Given the description of an element on the screen output the (x, y) to click on. 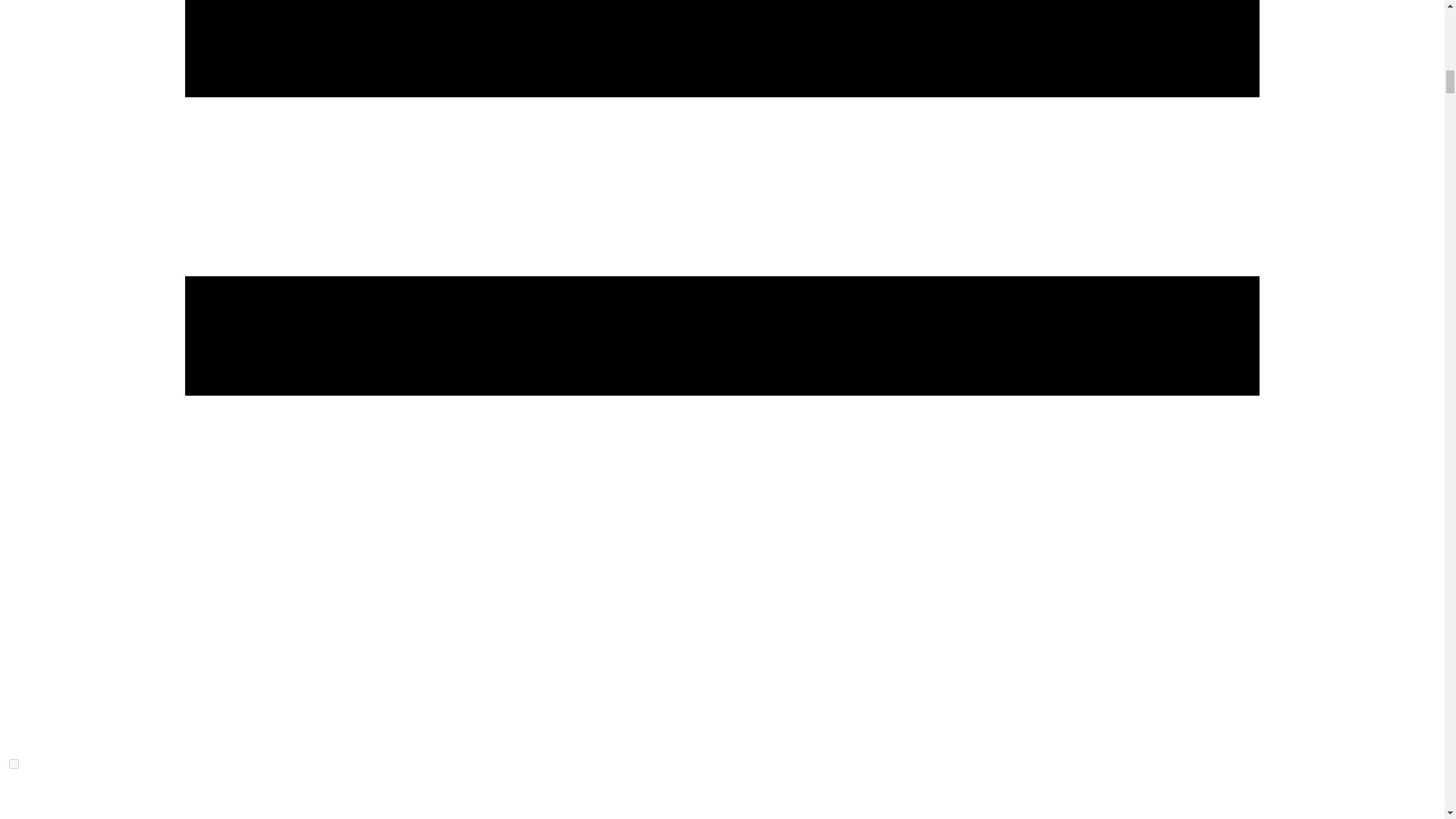
on (13, 764)
